Given the description of an element on the screen output the (x, y) to click on. 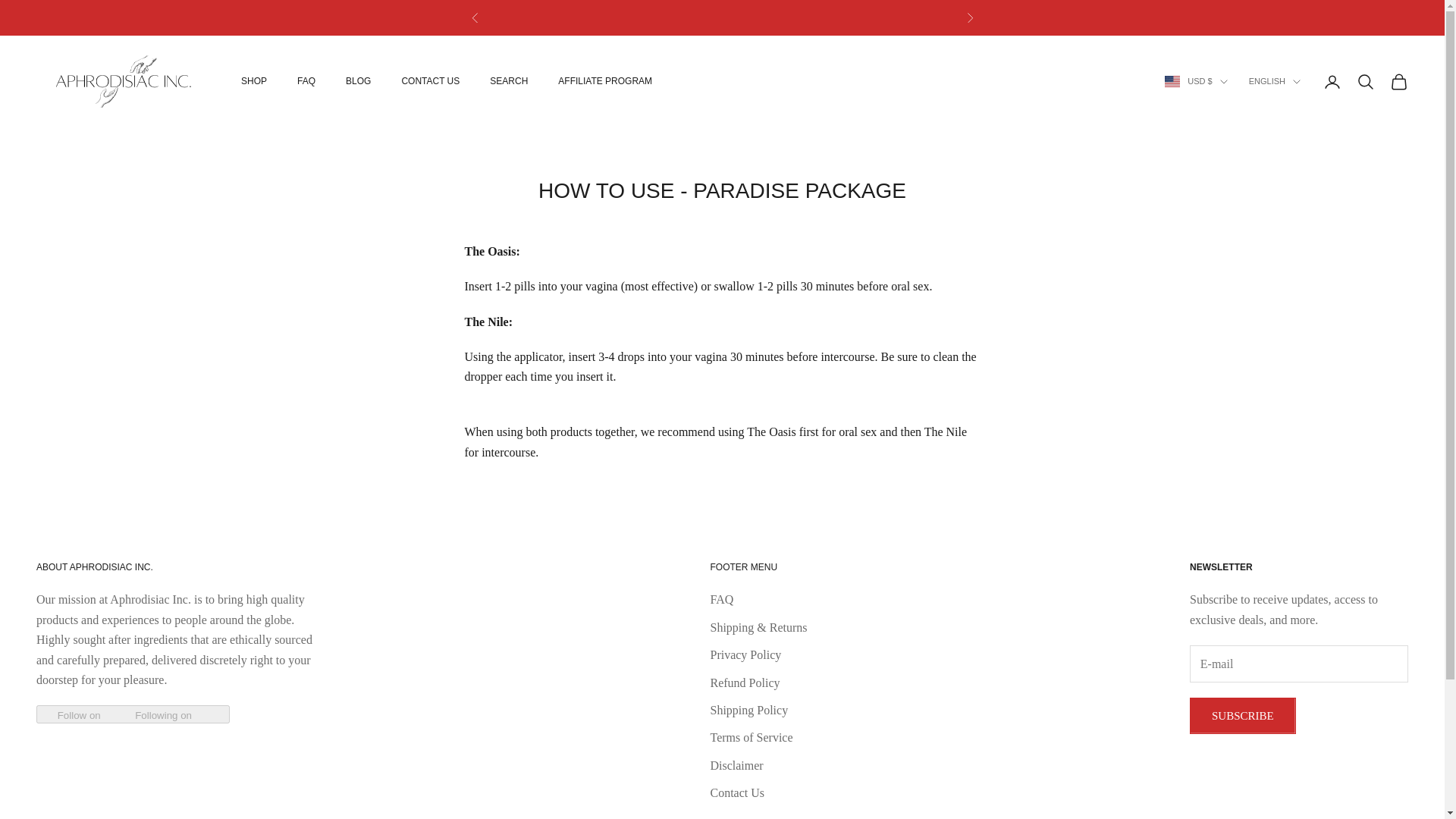
AFFILIATE PROGRAM (604, 80)
SEARCH (508, 80)
APHRODISIAC INC. (123, 81)
CONTACT US (430, 80)
BLOG (358, 80)
